Given the description of an element on the screen output the (x, y) to click on. 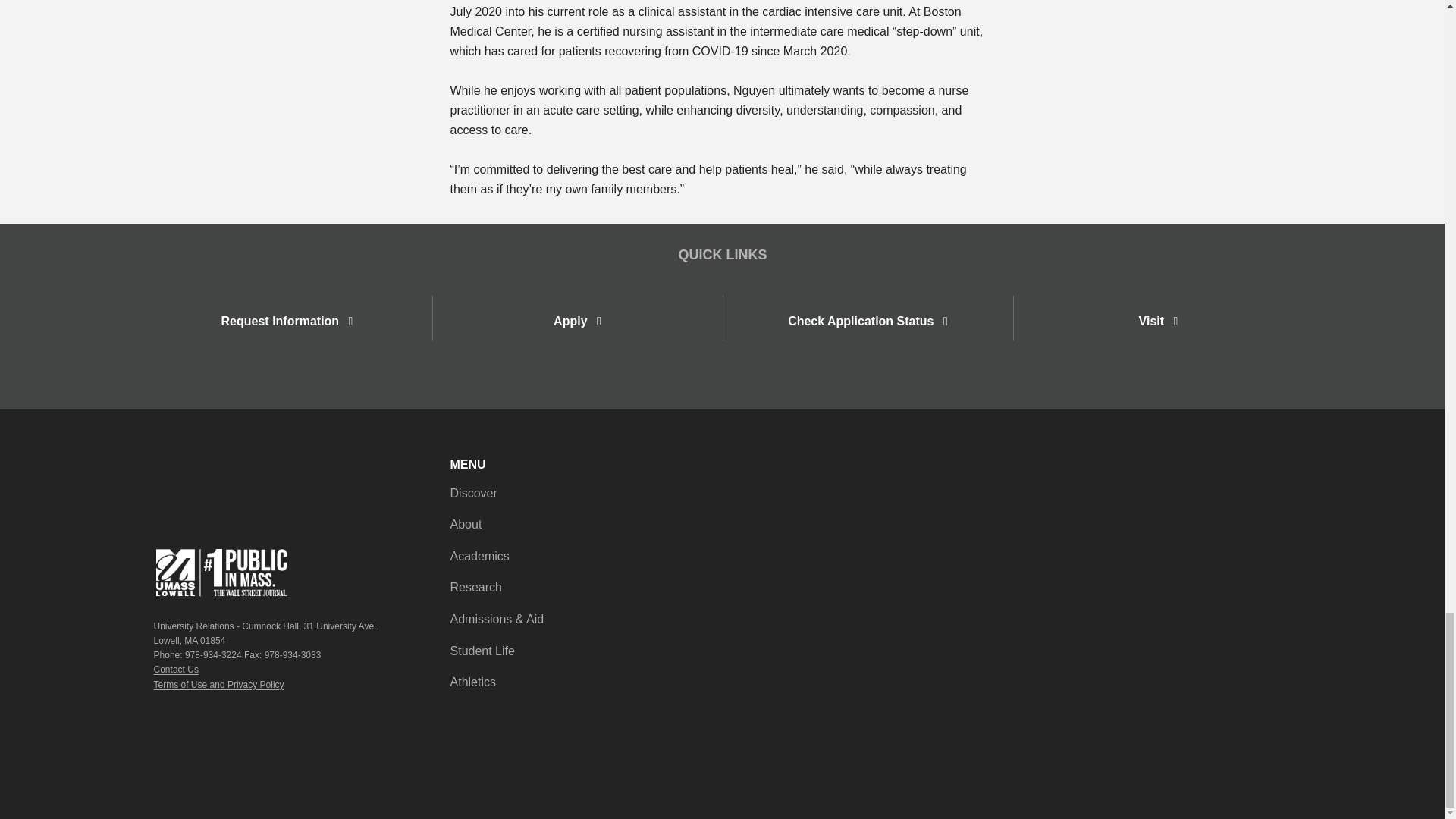
Youtube (1259, 471)
Request Information (286, 320)
Apply (577, 320)
Apply (577, 317)
Linkedin (1290, 471)
Check Application Status (867, 320)
Twitter (1244, 471)
Facebook (1228, 471)
Apply (577, 320)
Request Information (286, 320)
Instagram (1275, 471)
Request Information (287, 317)
Discover (473, 493)
Visit (1157, 320)
TikTok (1213, 471)
